Given the description of an element on the screen output the (x, y) to click on. 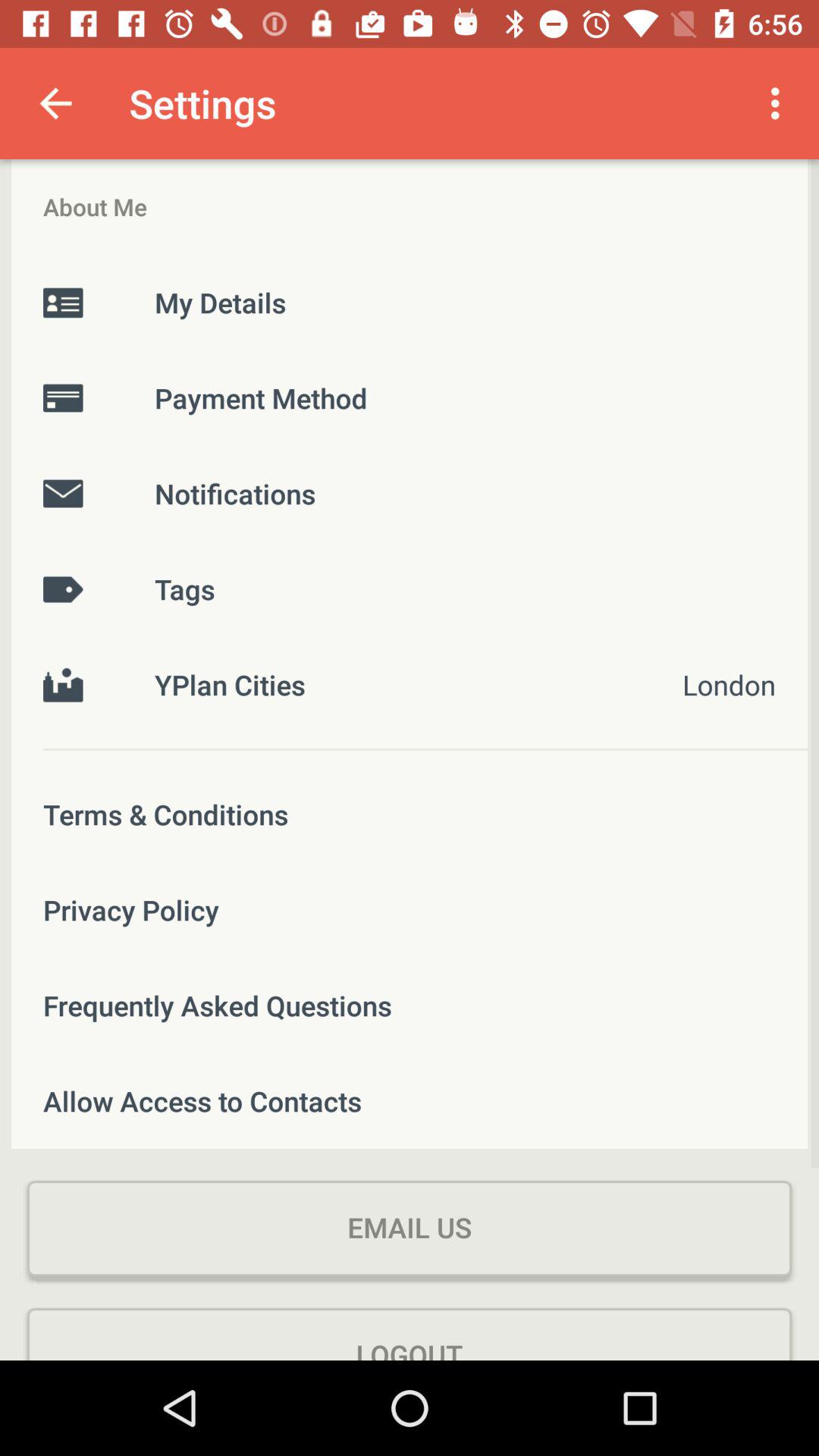
click the tags icon (409, 589)
